Given the description of an element on the screen output the (x, y) to click on. 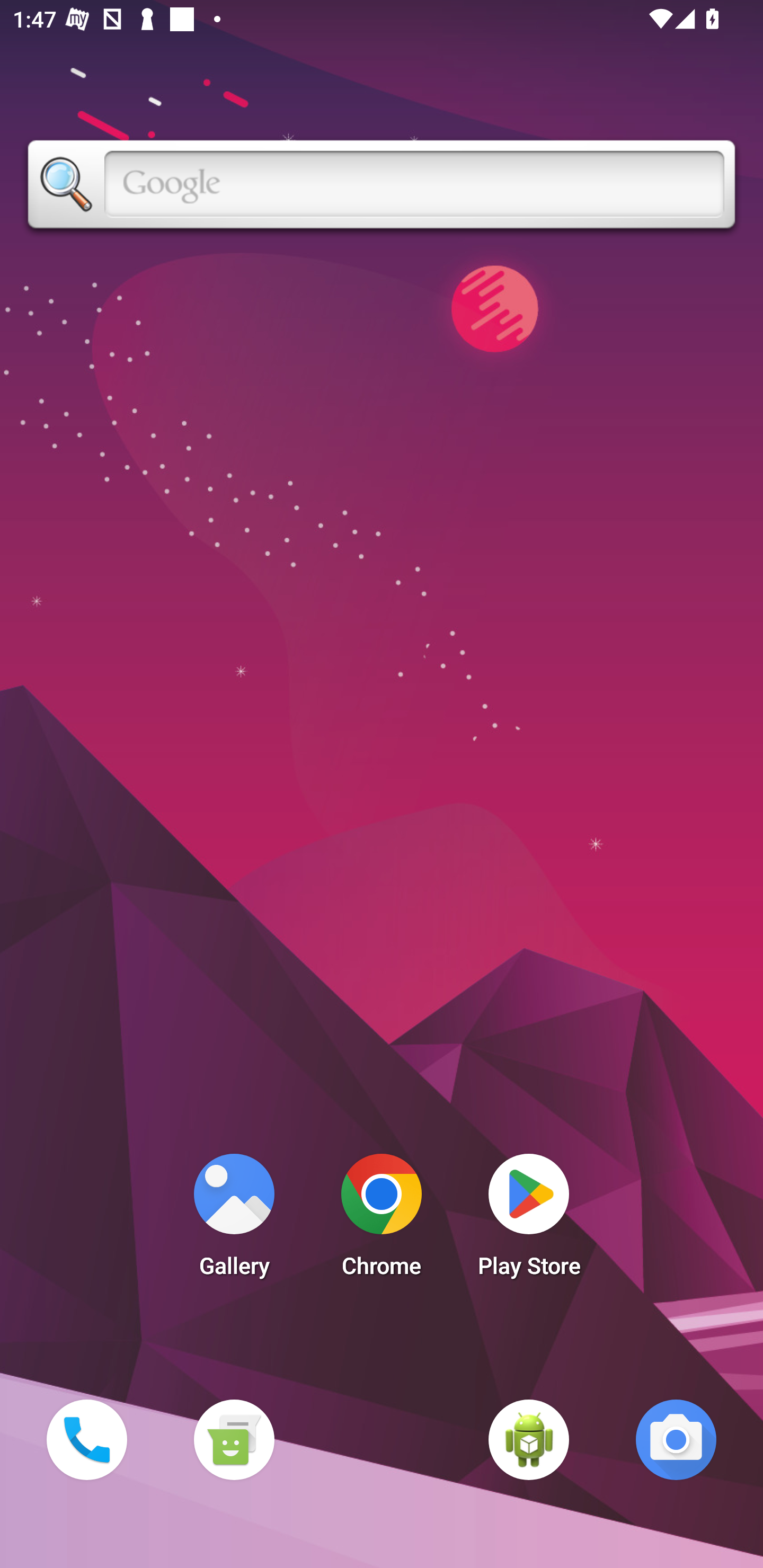
Gallery (233, 1220)
Chrome (381, 1220)
Play Store (528, 1220)
Phone (86, 1439)
Messaging (233, 1439)
WebView Browser Tester (528, 1439)
Camera (676, 1439)
